Given the description of an element on the screen output the (x, y) to click on. 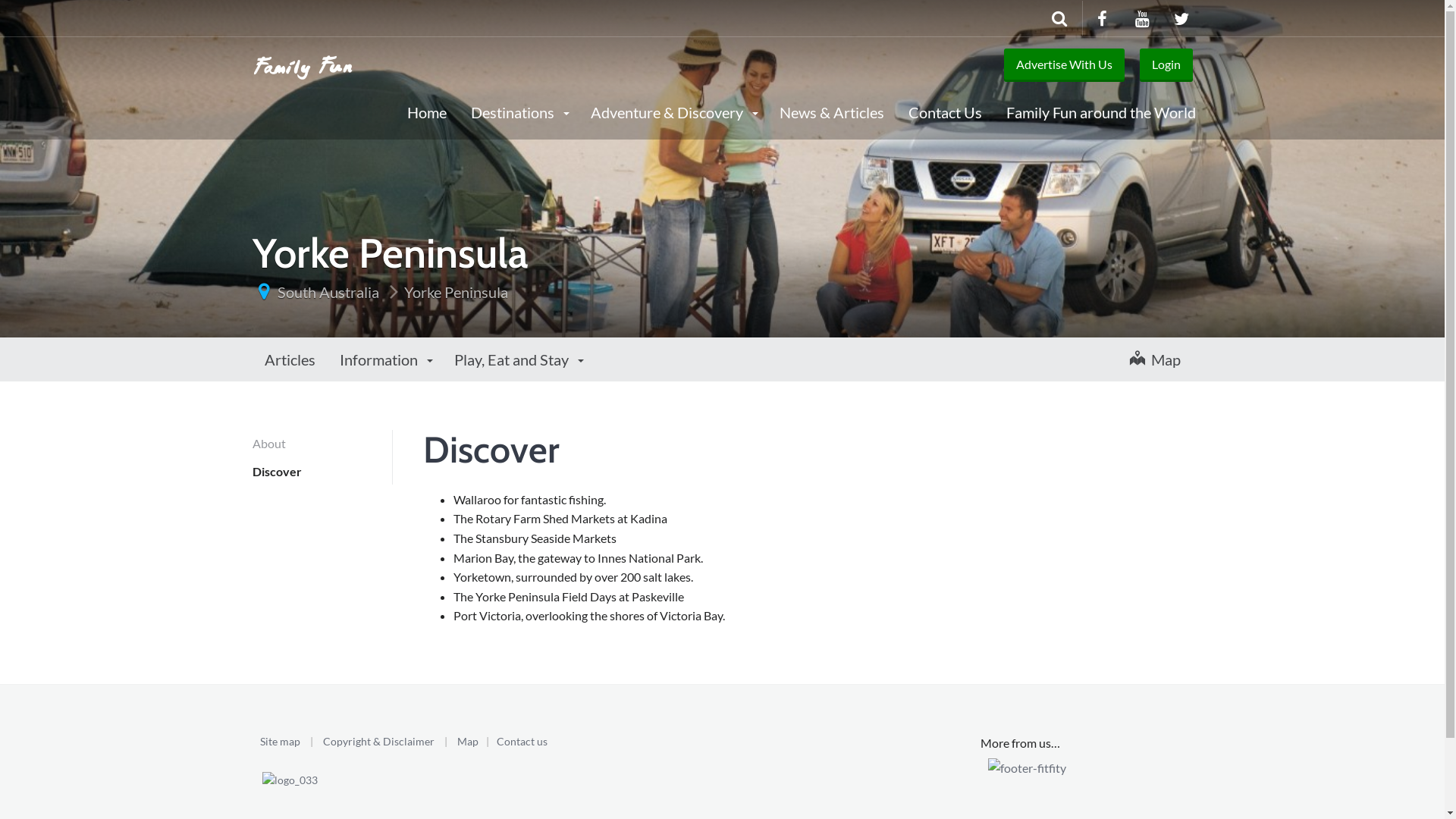
Family Fun around the World Element type: text (1100, 110)
Home Element type: text (426, 110)
Information Element type: text (384, 359)
Yorke Peninsula Element type: text (455, 291)
Destinations Element type: text (517, 110)
News & Articles Element type: text (831, 110)
Articles Element type: text (288, 359)
Family Fun Travel Guide Element type: hover (303, 64)
South Australia Element type: text (328, 291)
About Element type: text (321, 442)
Play, Eat and Stay Element type: text (516, 359)
Advertise With Us Element type: text (1064, 64)
Login Element type: text (1165, 64)
Contact us Element type: text (521, 740)
Discover Element type: text (321, 471)
Site map Element type: text (279, 740)
Adventure & Discovery Element type: text (671, 110)
Copyright & Disclaimer Element type: text (378, 740)
Contact Us Element type: text (945, 110)
  Map Element type: text (1154, 359)
Map Element type: text (466, 740)
